Given the description of an element on the screen output the (x, y) to click on. 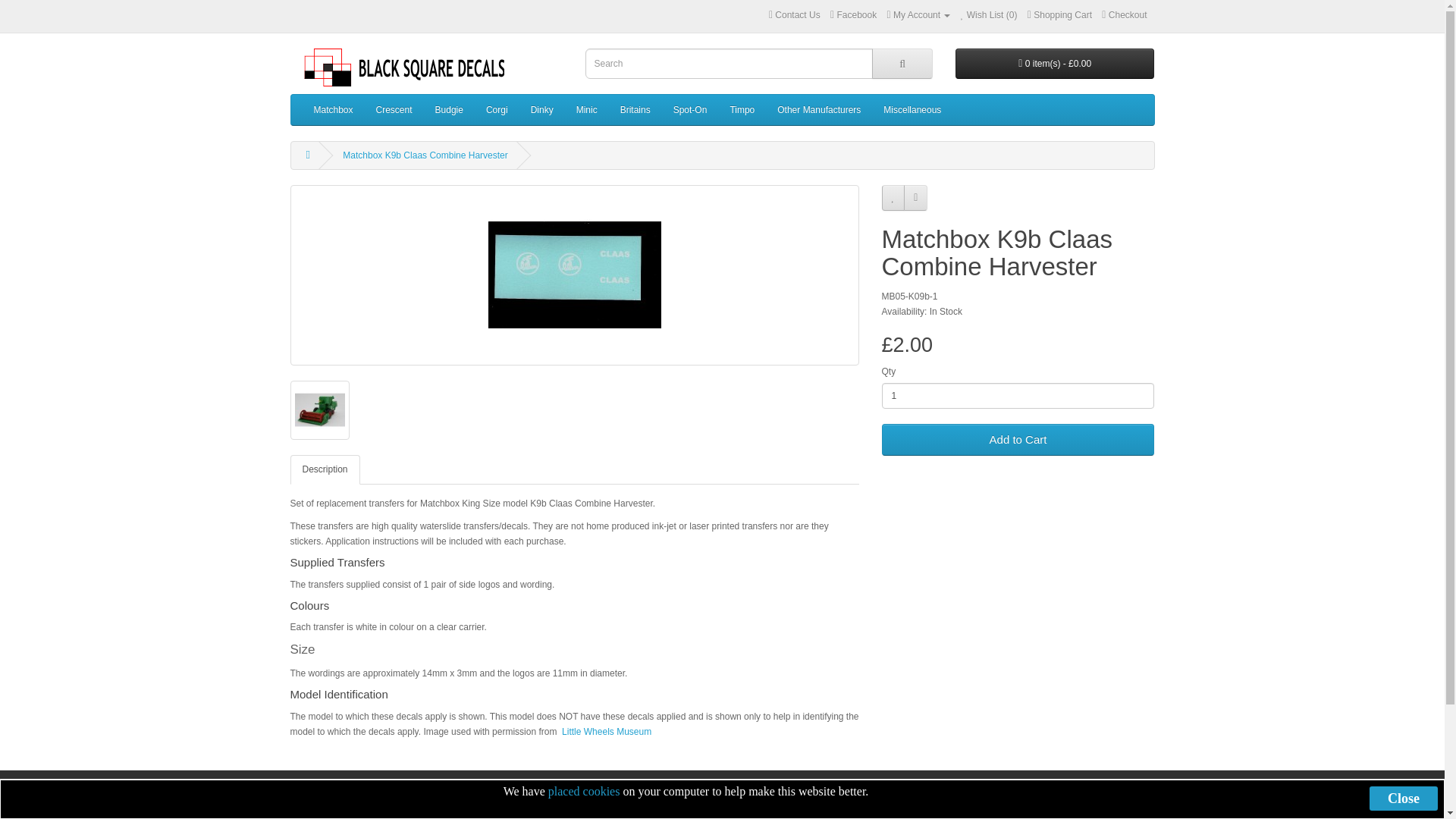
My Account (918, 14)
Checkout (1124, 14)
Shopping Cart (1059, 14)
Corgi (496, 110)
Budgie (448, 110)
Contact Us (770, 14)
Dinky (541, 110)
Black Square Decals (396, 67)
Crescent (394, 110)
Matchbox K9b Claas Combine Harvester (574, 275)
Matchbox (332, 110)
Checkout (1124, 14)
Matchbox K9b Claas Combine Harvester (574, 275)
Shopping Cart (1059, 14)
Matchbox K9b Claas Combine Harvester (319, 409)
